Given the description of an element on the screen output the (x, y) to click on. 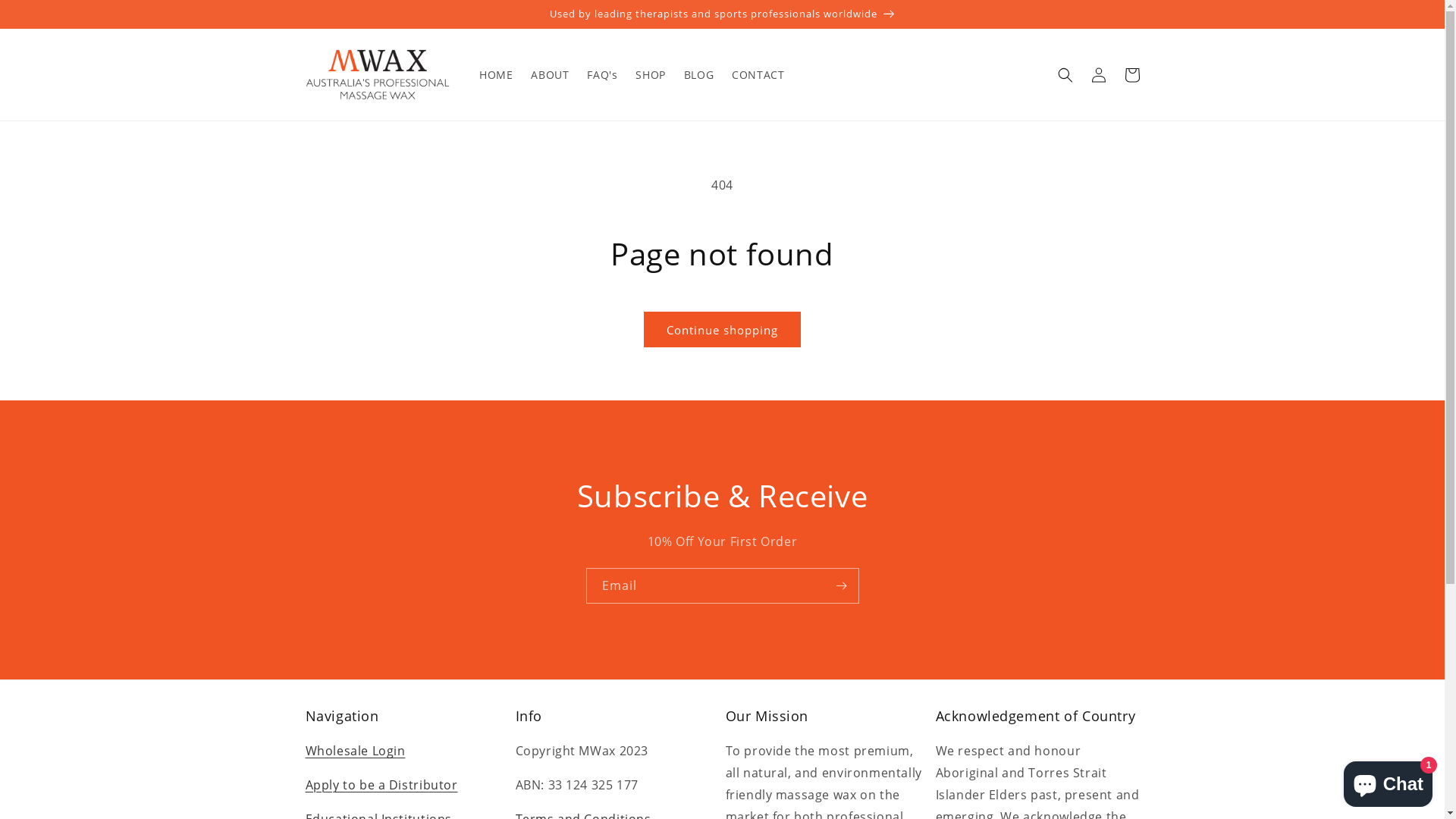
Shopify online store chat Element type: hover (1388, 780)
HOME Element type: text (495, 75)
ABOUT Element type: text (549, 75)
BLOG Element type: text (698, 75)
Continue shopping Element type: text (721, 329)
SHOP Element type: text (650, 75)
Cart Element type: text (1131, 74)
CONTACT Element type: text (757, 75)
FAQ's Element type: text (601, 75)
Apply to be a Distributor Element type: text (380, 784)
Wholesale Login Element type: text (354, 750)
Log in Element type: text (1097, 74)
